Given the description of an element on the screen output the (x, y) to click on. 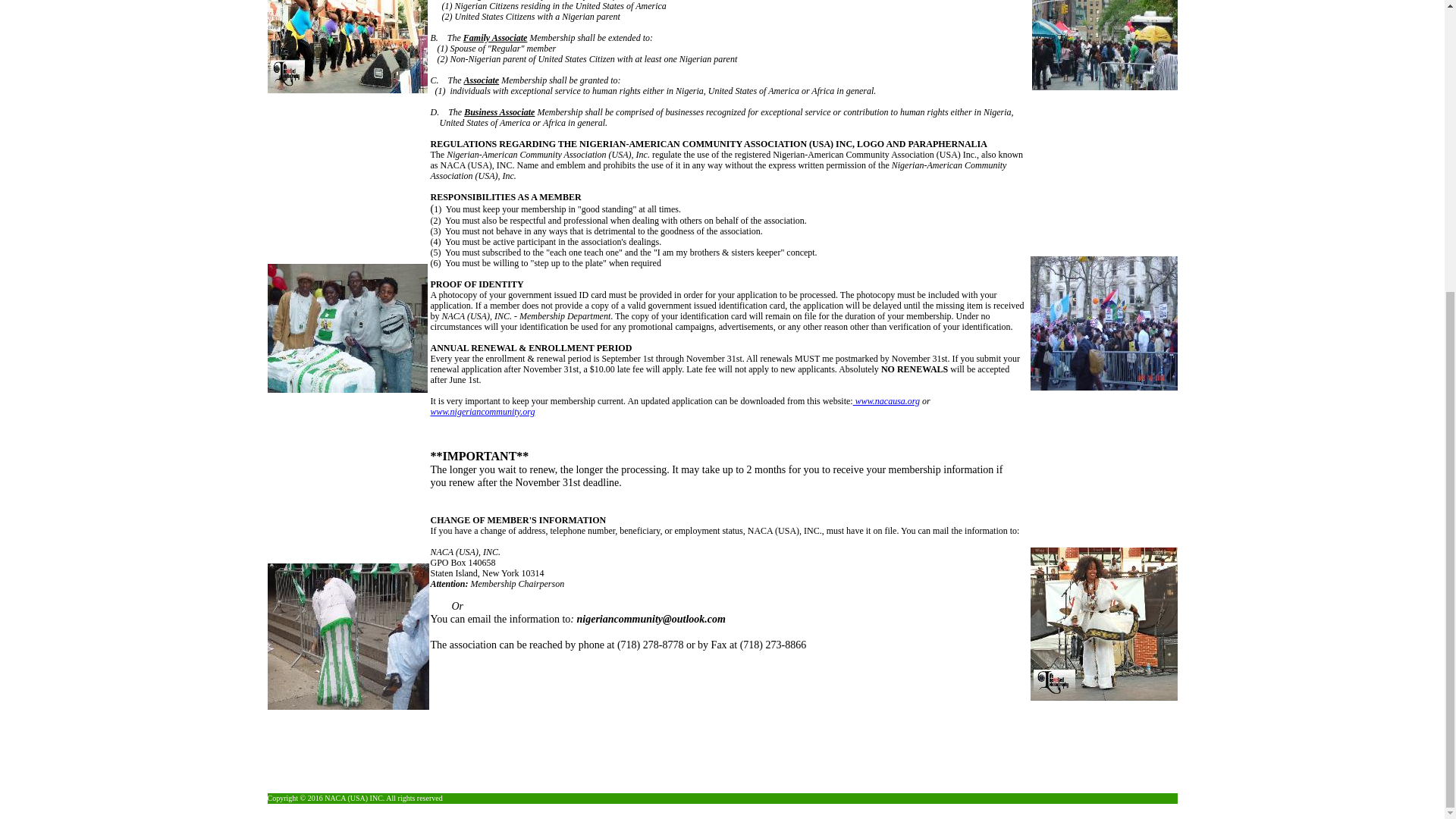
www.nacausa.org (886, 400)
www.nigeriancommunity.org (482, 426)
